Given the description of an element on the screen output the (x, y) to click on. 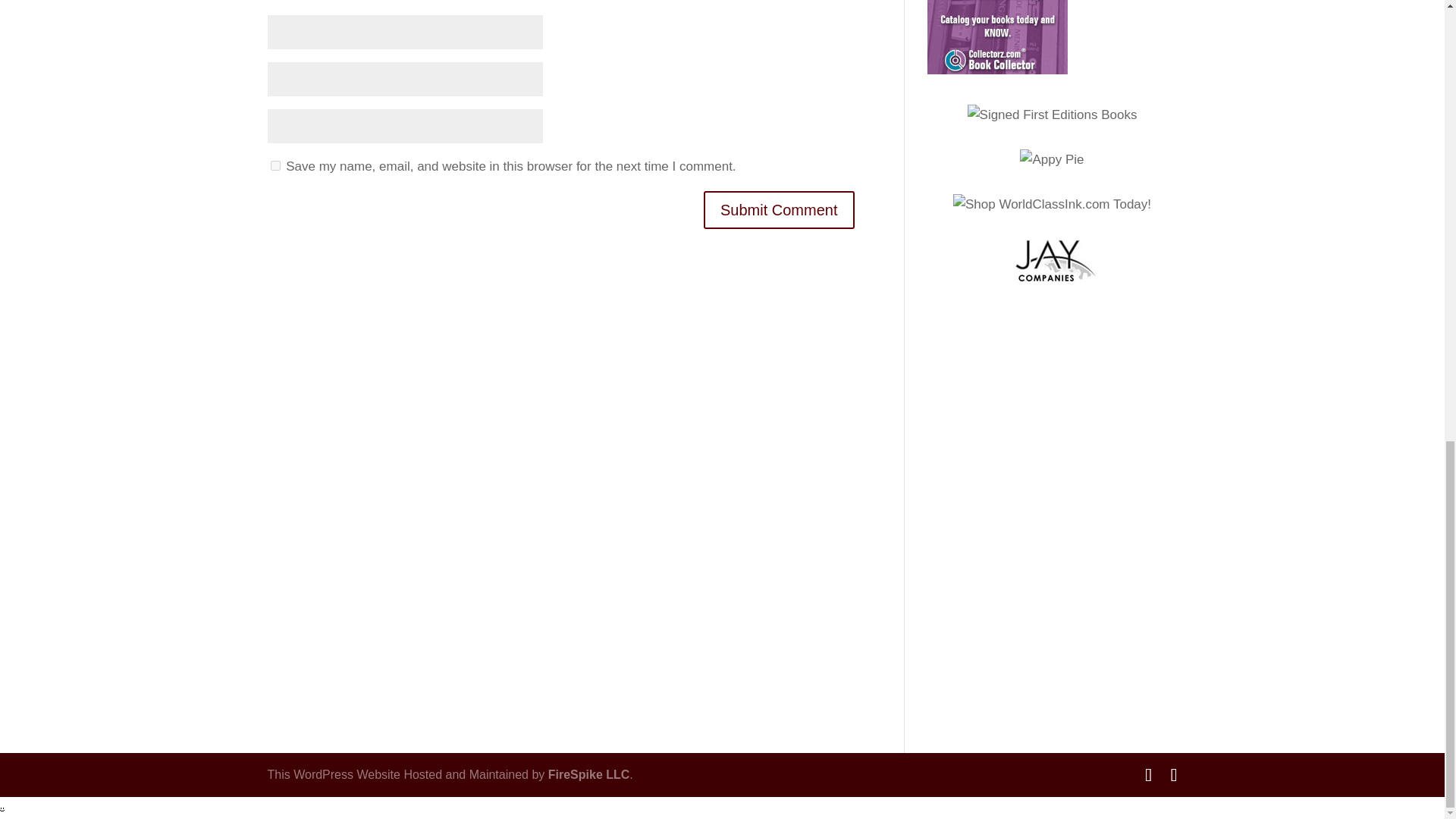
Appy Pie (1051, 160)
Catalog Your Book Collection (996, 37)
120x60 banner (1052, 261)
yes (274, 165)
FireSpike LLC (589, 774)
Shop WorldClassInk.com Today! (1052, 205)
Submit Comment (778, 209)
Submit Comment (778, 209)
